Given the description of an element on the screen output the (x, y) to click on. 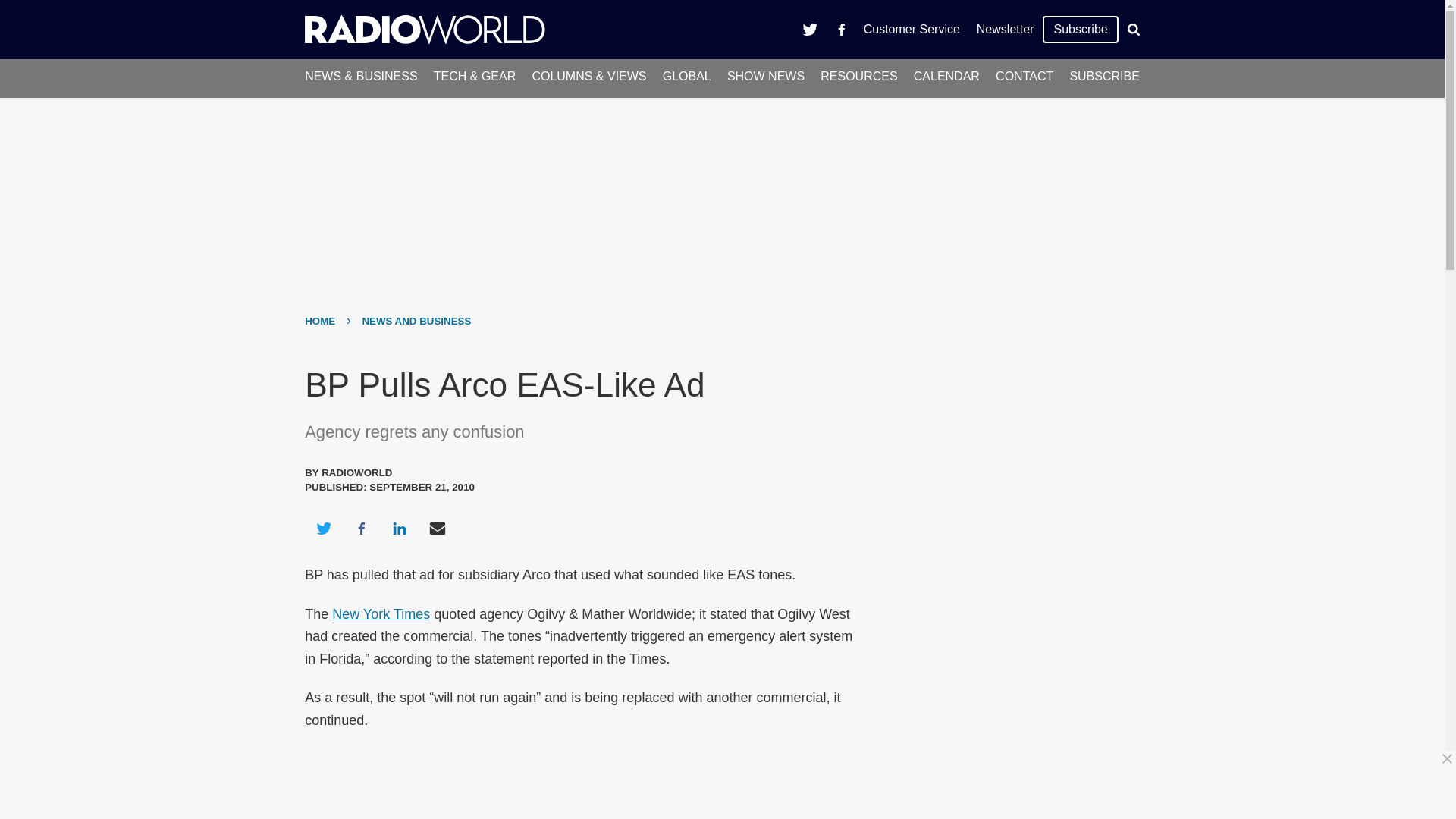
Share via Email (438, 528)
Advertisement (727, 785)
Share on Twitter (323, 528)
Newsletter (1005, 29)
Advertisement (1005, 461)
Share on Facebook (361, 528)
Customer Service (912, 29)
Share on LinkedIn (399, 528)
